Given the description of an element on the screen output the (x, y) to click on. 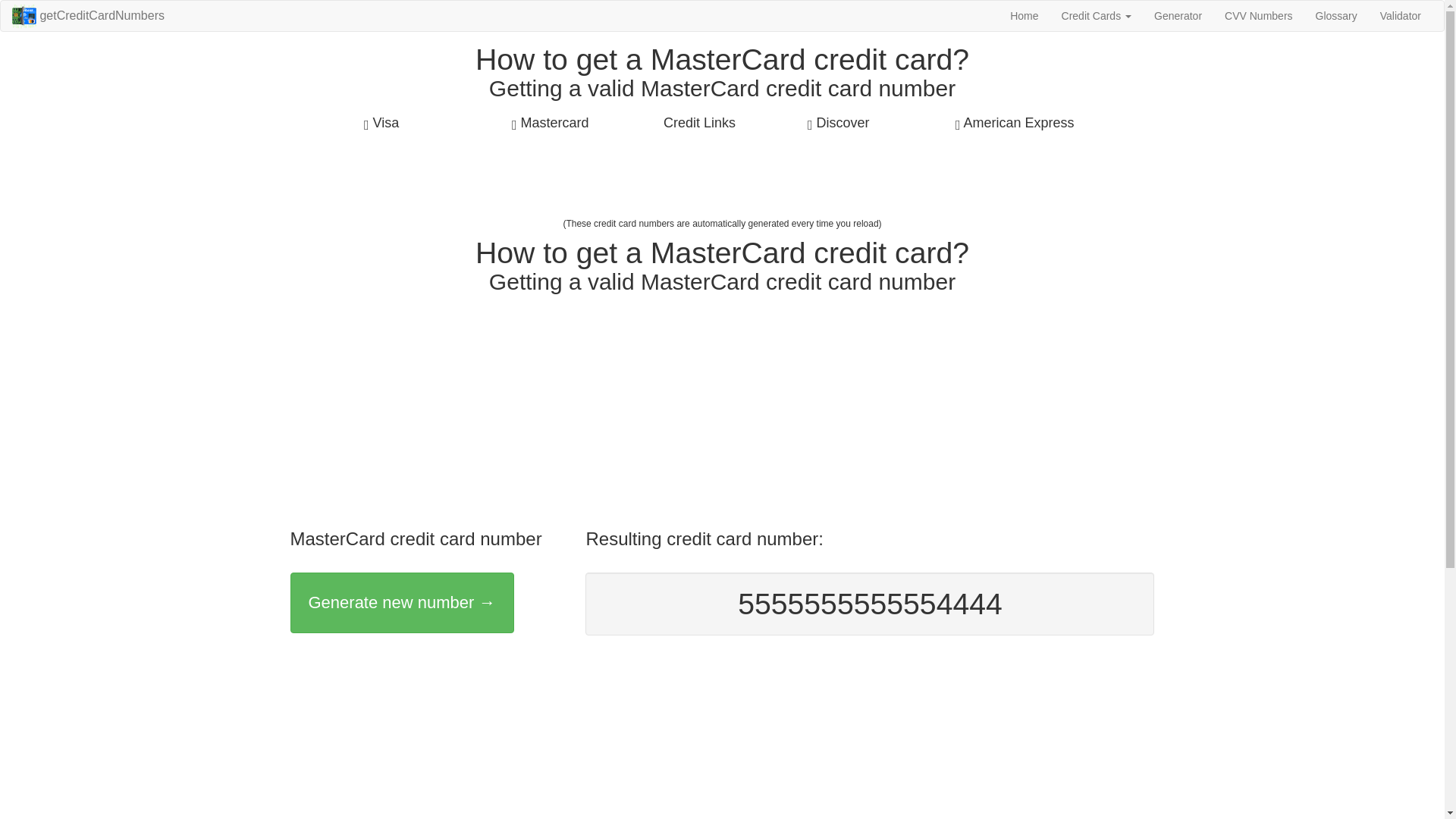
Generator (1177, 15)
getCreditCardNumbers (88, 15)
Home (1023, 15)
Validator (1400, 15)
Credit Cards (1095, 15)
CVV Numbers (1257, 15)
Glossary (1336, 15)
